Given the description of an element on the screen output the (x, y) to click on. 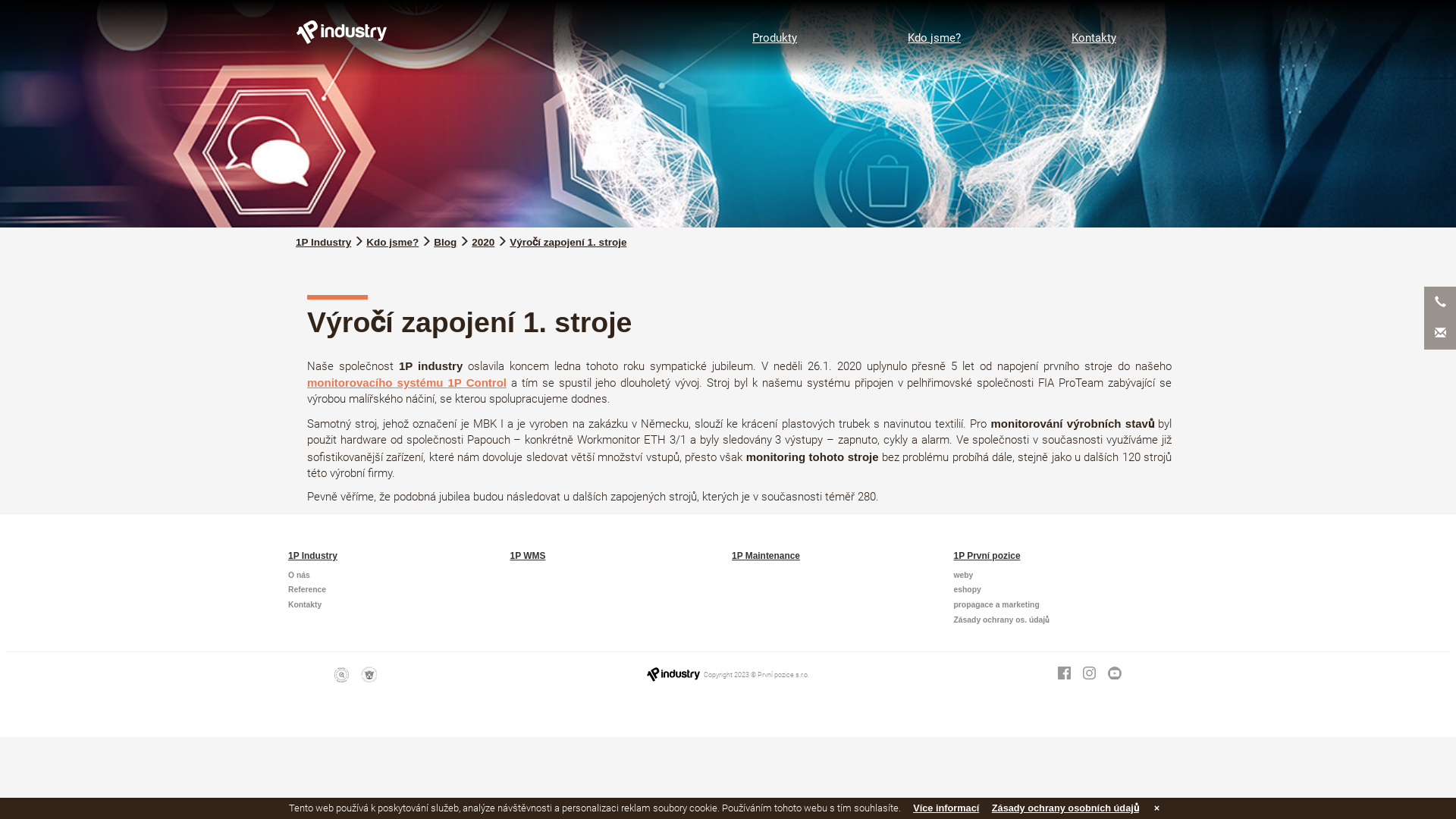
Kontakty Element type: text (1093, 37)
weby Element type: text (963, 575)
Kontakty Element type: text (304, 604)
1P Maintenance Element type: text (765, 555)
Kdo jsme? Element type: text (392, 241)
Produkty Element type: text (774, 37)
1P Industry Element type: text (323, 241)
Reference Element type: text (307, 589)
Blog Element type: text (444, 241)
1P Industry Element type: text (312, 555)
1P WMS Element type: text (527, 555)
2020 Element type: text (482, 241)
Kdo jsme? Element type: text (934, 37)
eshopy Element type: text (967, 589)
propagace a marketing Element type: text (996, 604)
